Given the description of an element on the screen output the (x, y) to click on. 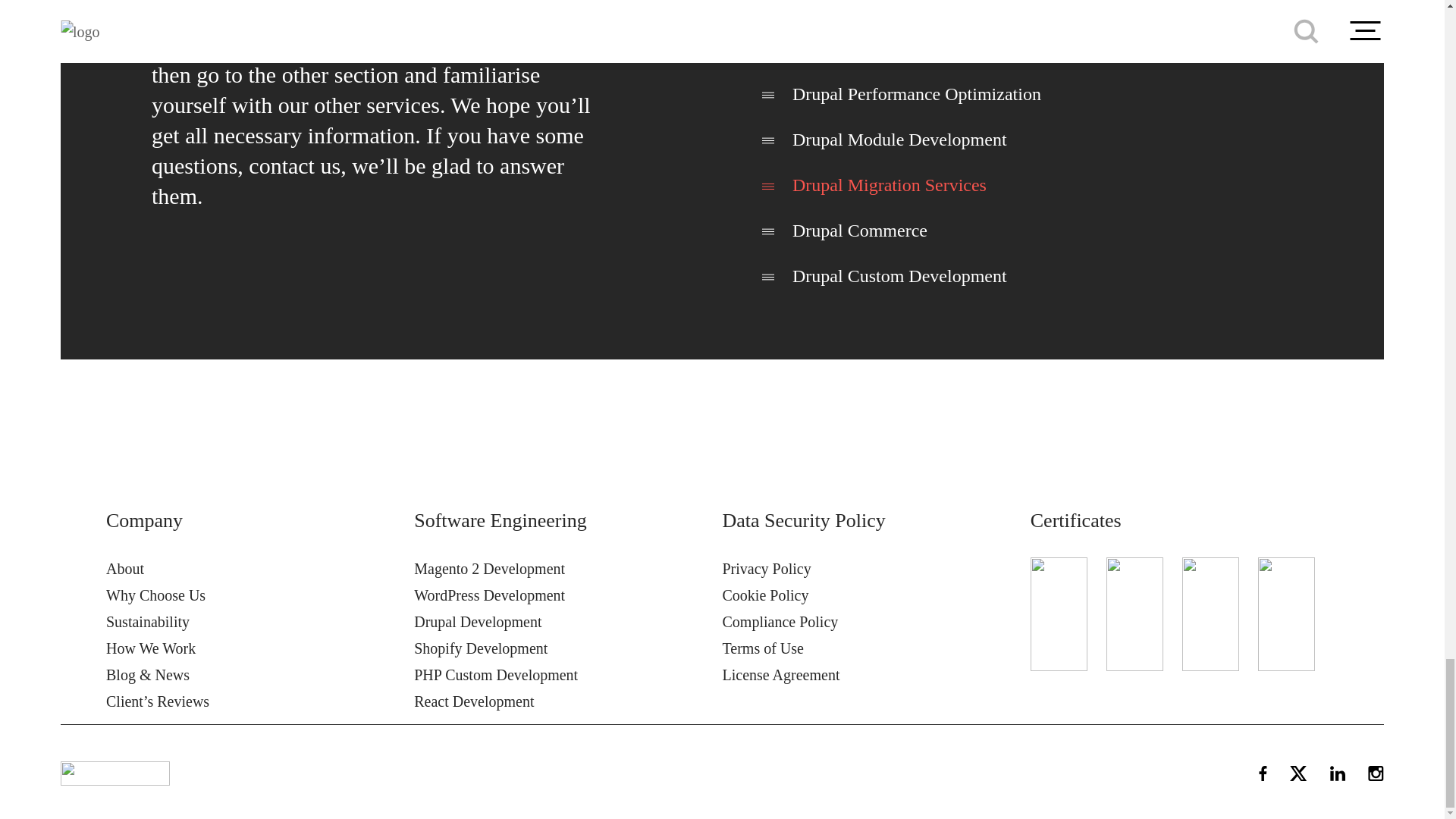
Drupal Module Development (899, 139)
Compliance Policy (780, 621)
About (125, 568)
Terms of Use (762, 647)
Cookie Policy (765, 595)
Drupal Support (848, 48)
Drupal Commerce (859, 230)
Drupal Performance Optimization (916, 94)
Drupal Custom Development (899, 275)
Privacy Policy (766, 568)
